Given the description of an element on the screen output the (x, y) to click on. 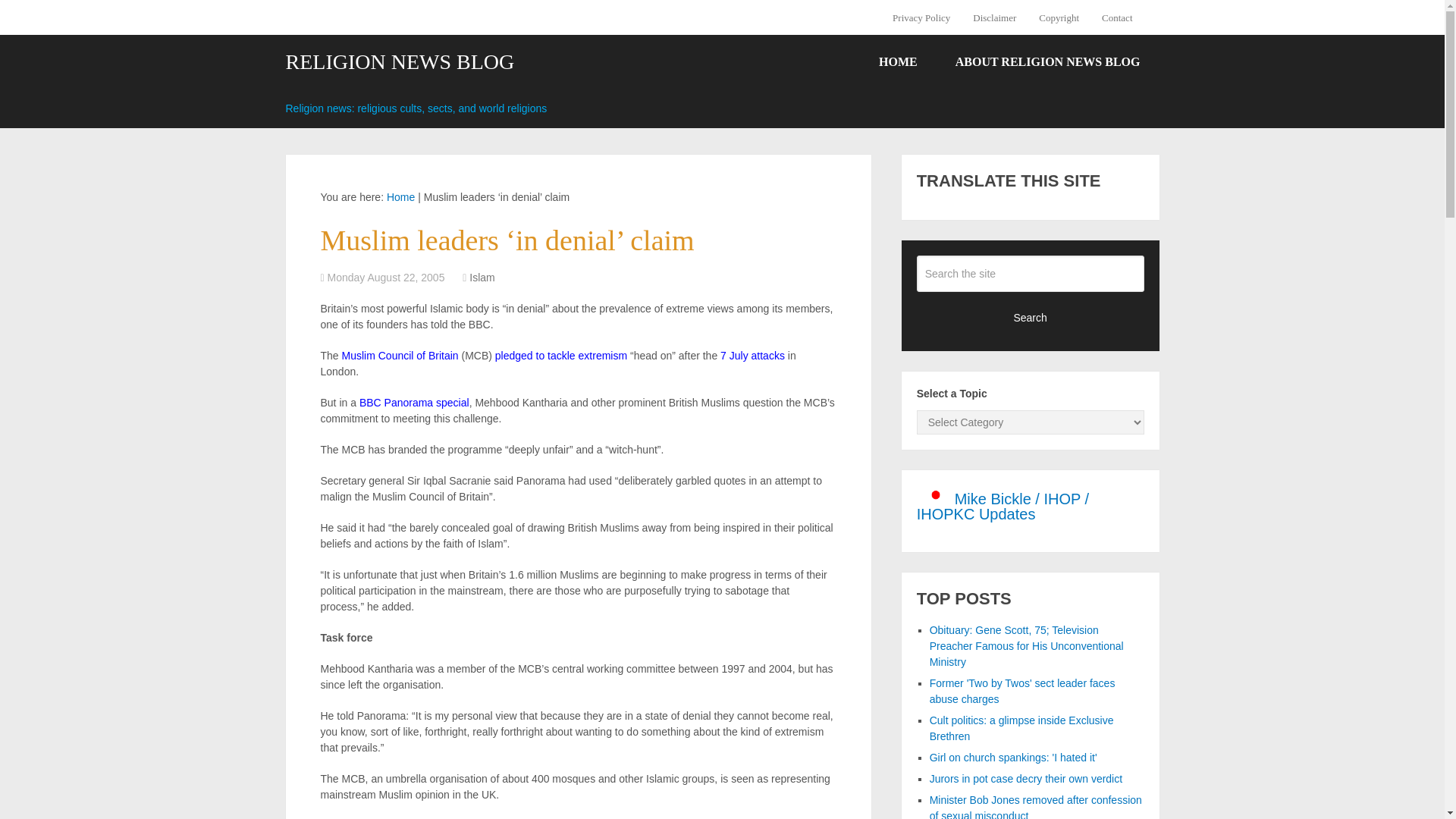
Muslim Council of Britain (400, 355)
HOME (898, 62)
Contact (1116, 17)
pledged to tackle extremism (561, 355)
BBC Panorama special (413, 402)
View all posts in Islam (481, 277)
Search (1030, 317)
ABOUT RELIGION NEWS BLOG (1047, 62)
7 July attacks (752, 355)
Privacy Policy (926, 17)
Copyright (1058, 17)
Home (400, 196)
Islam (481, 277)
RELIGION NEWS BLOG (399, 61)
